Given the description of an element on the screen output the (x, y) to click on. 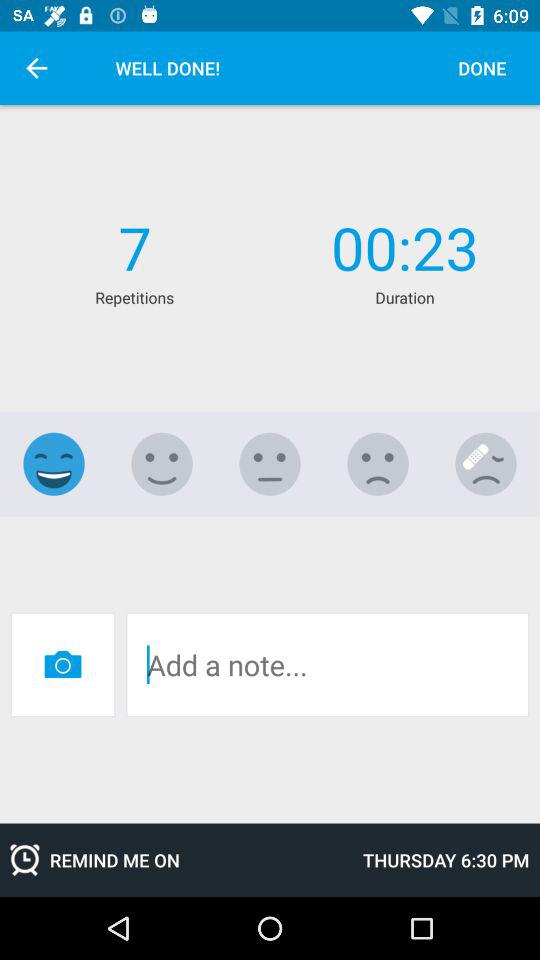
tap the icon next to the remind me on icon (446, 859)
